Given the description of an element on the screen output the (x, y) to click on. 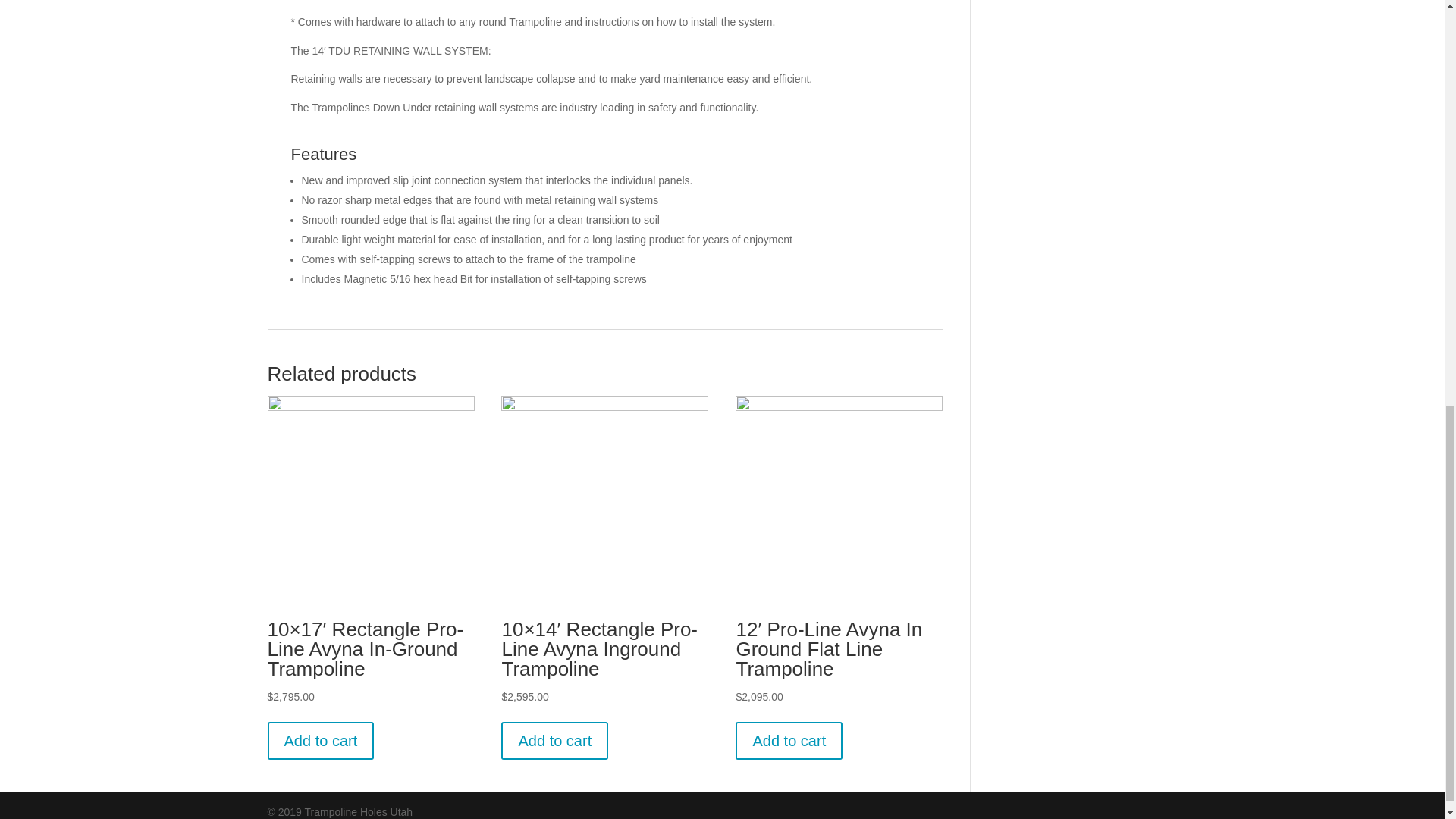
Add to cart (554, 740)
Add to cart (320, 740)
Add to cart (789, 740)
